Given the description of an element on the screen output the (x, y) to click on. 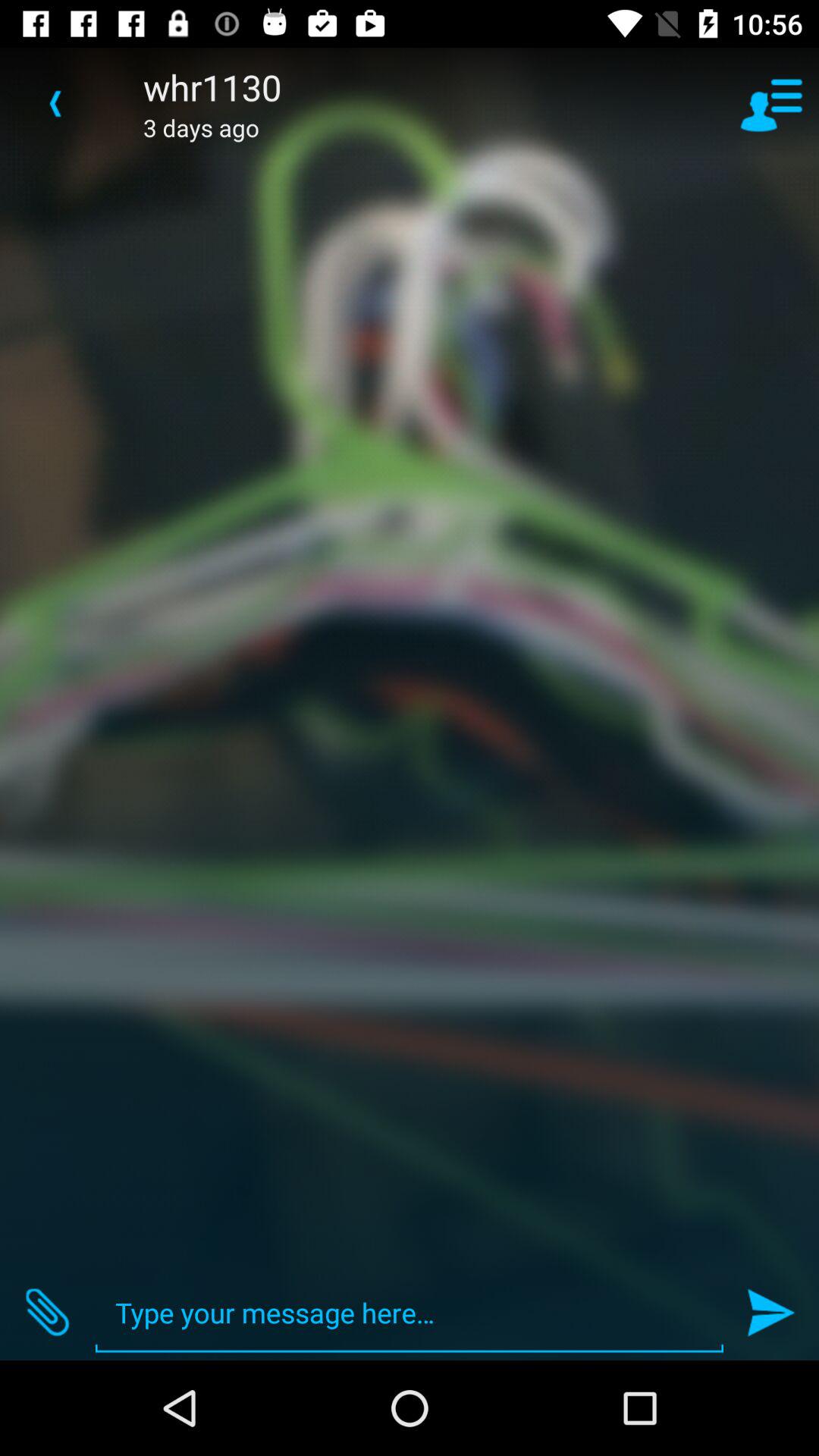
open icon to the left of the whr1130 (55, 103)
